Given the description of an element on the screen output the (x, y) to click on. 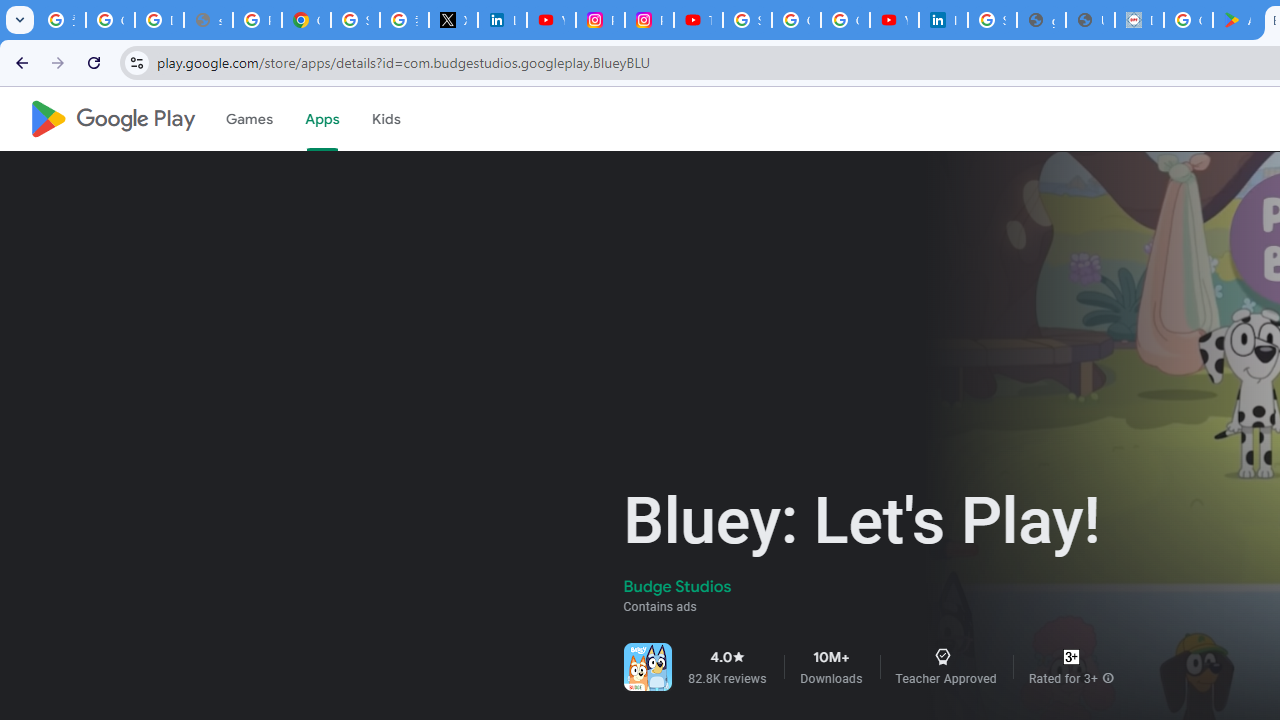
User Details (1090, 20)
support.google.com - Network error (208, 20)
Games (248, 119)
